Given the description of an element on the screen output the (x, y) to click on. 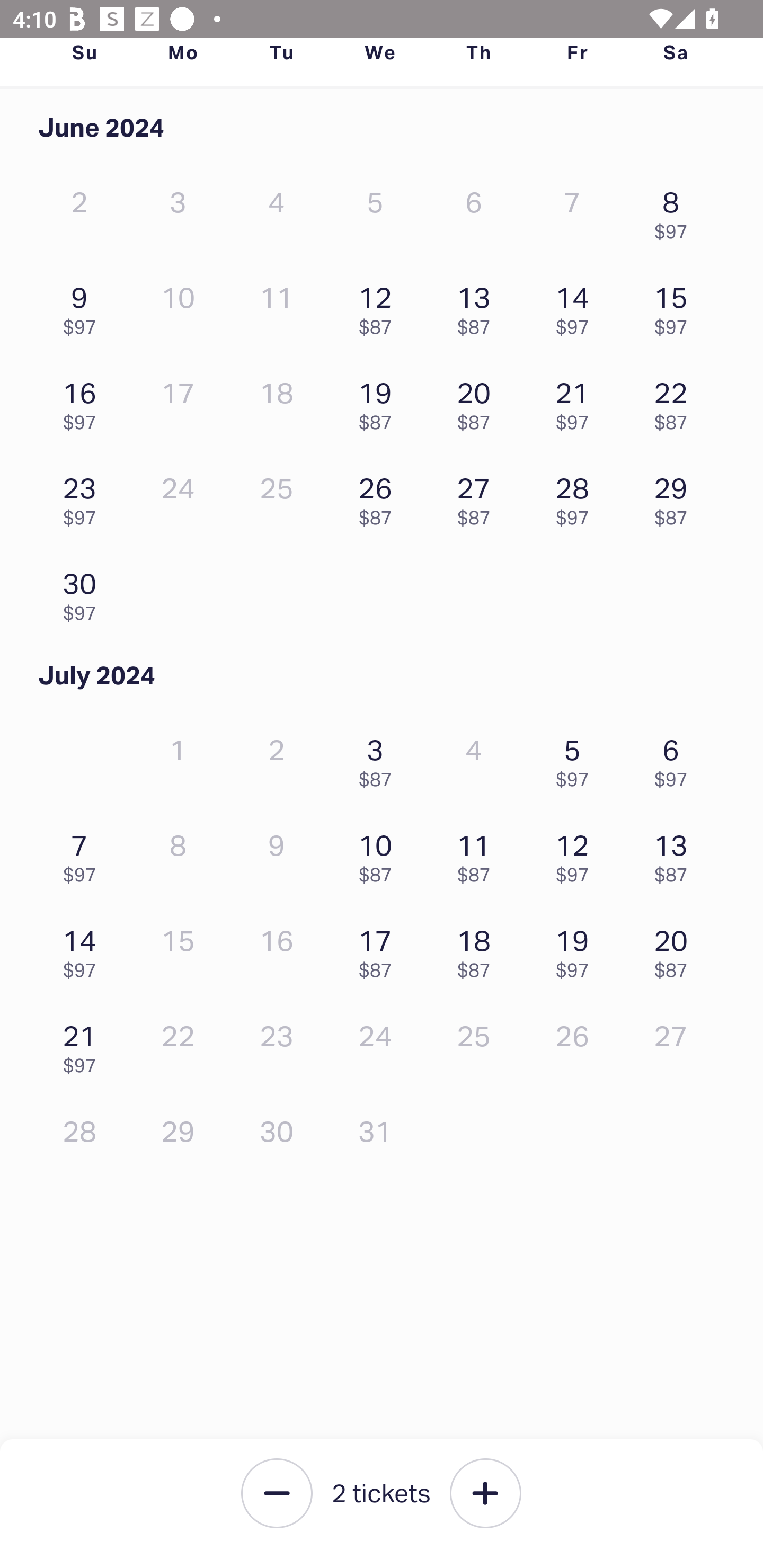
8 $97 (675, 210)
9 $97 (84, 306)
12 $87 (379, 306)
13 $87 (478, 306)
14 $97 (577, 306)
15 $97 (675, 306)
16 $97 (84, 401)
19 $87 (379, 401)
20 $87 (478, 401)
21 $97 (577, 401)
22 $87 (675, 401)
23 $97 (84, 496)
26 $87 (379, 496)
27 $87 (478, 496)
28 $97 (577, 496)
29 $87 (675, 496)
30 $97 (84, 591)
3 $87 (379, 757)
5 $97 (577, 757)
6 $97 (675, 757)
7 $97 (84, 853)
10 $87 (379, 853)
11 $87 (478, 853)
12 $97 (577, 853)
13 $87 (675, 853)
14 $97 (84, 949)
17 $87 (379, 949)
18 $87 (478, 949)
19 $97 (577, 949)
20 $87 (675, 949)
21 $97 (84, 1044)
